Given the description of an element on the screen output the (x, y) to click on. 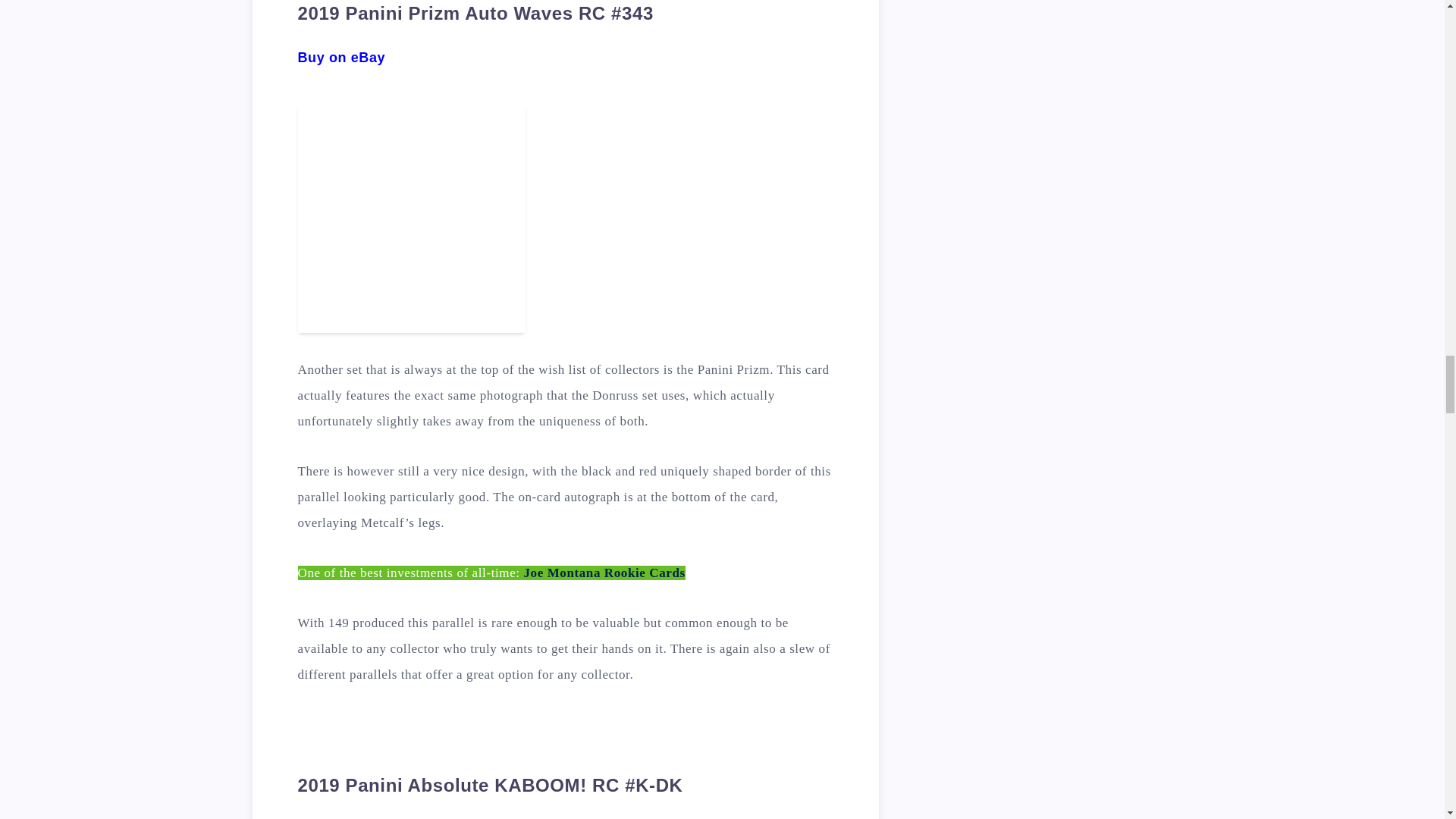
Joe Montana Rookie Cards (603, 572)
Buy on eBay (341, 57)
